Given the description of an element on the screen output the (x, y) to click on. 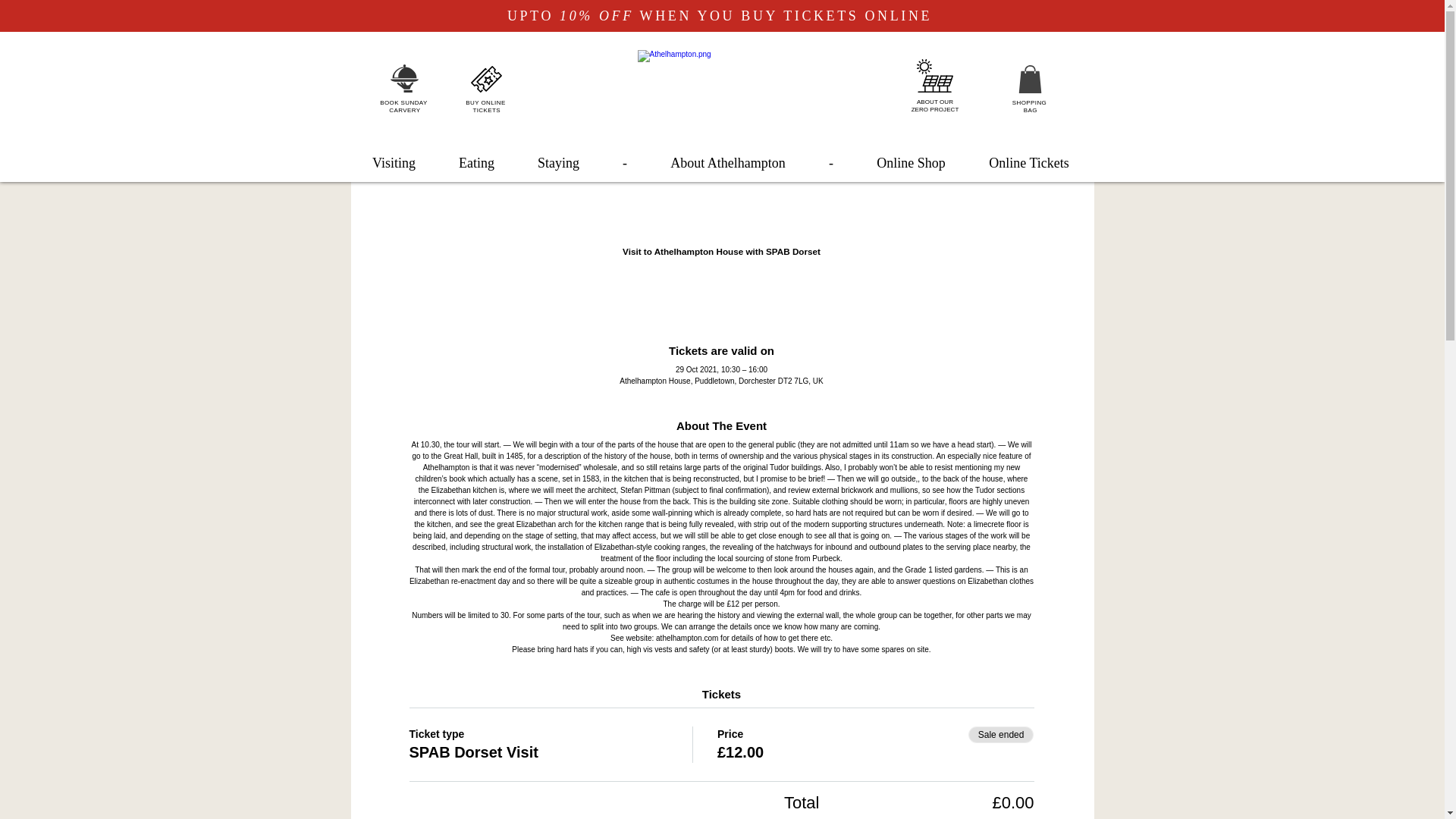
OFF (615, 15)
BOOK SUNDAY (404, 102)
WHEN YOU BUY TICKETS ONLINE (786, 15)
BUY ONLINE (485, 102)
Eating (475, 162)
TICKETS (485, 110)
About Athelhampton (728, 162)
UPTO  (532, 15)
Staying (557, 162)
Visiting (393, 162)
Online Shop (935, 105)
